Given the description of an element on the screen output the (x, y) to click on. 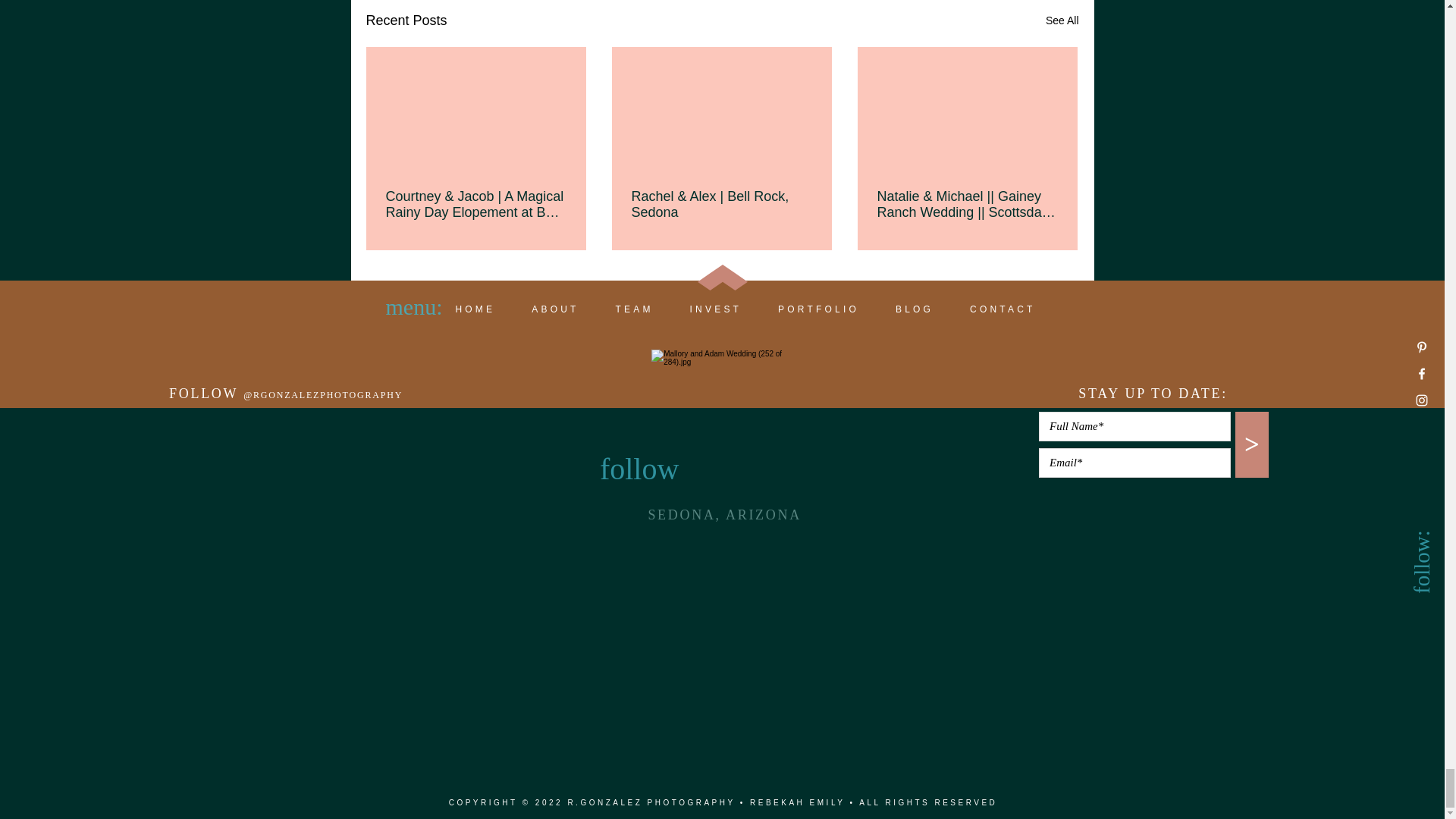
HOME (474, 309)
INVEST (715, 309)
ABOUT (554, 309)
TEAM (633, 309)
PORTFOLIO (818, 309)
See All (1061, 20)
